Given the description of an element on the screen output the (x, y) to click on. 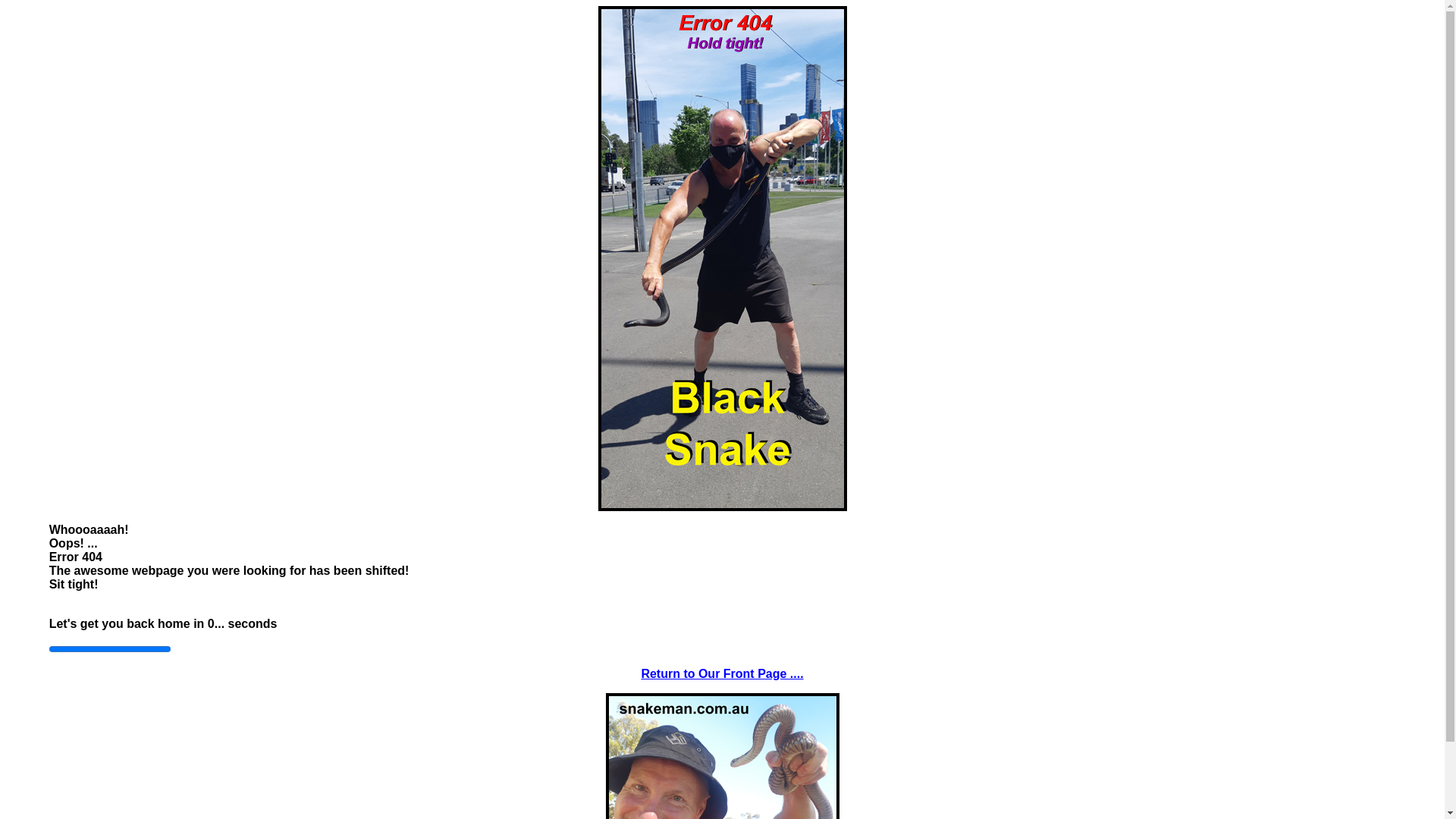
Return to Our Front Page .... Element type: text (721, 673)
snake-man-404 Element type: hover (721, 258)
